Given the description of an element on the screen output the (x, y) to click on. 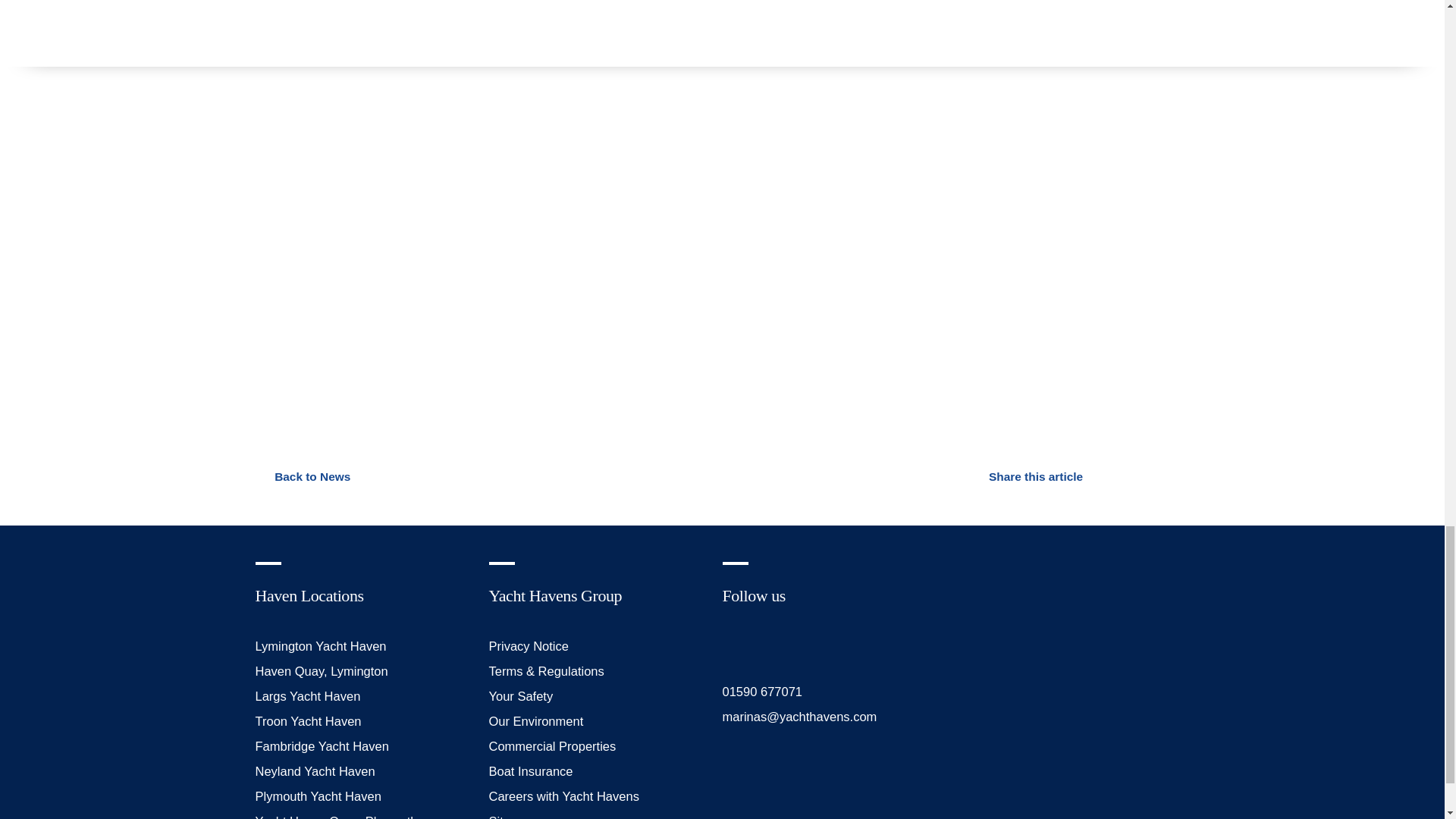
Linkedin (800, 644)
Instagram (766, 644)
